Given the description of an element on the screen output the (x, y) to click on. 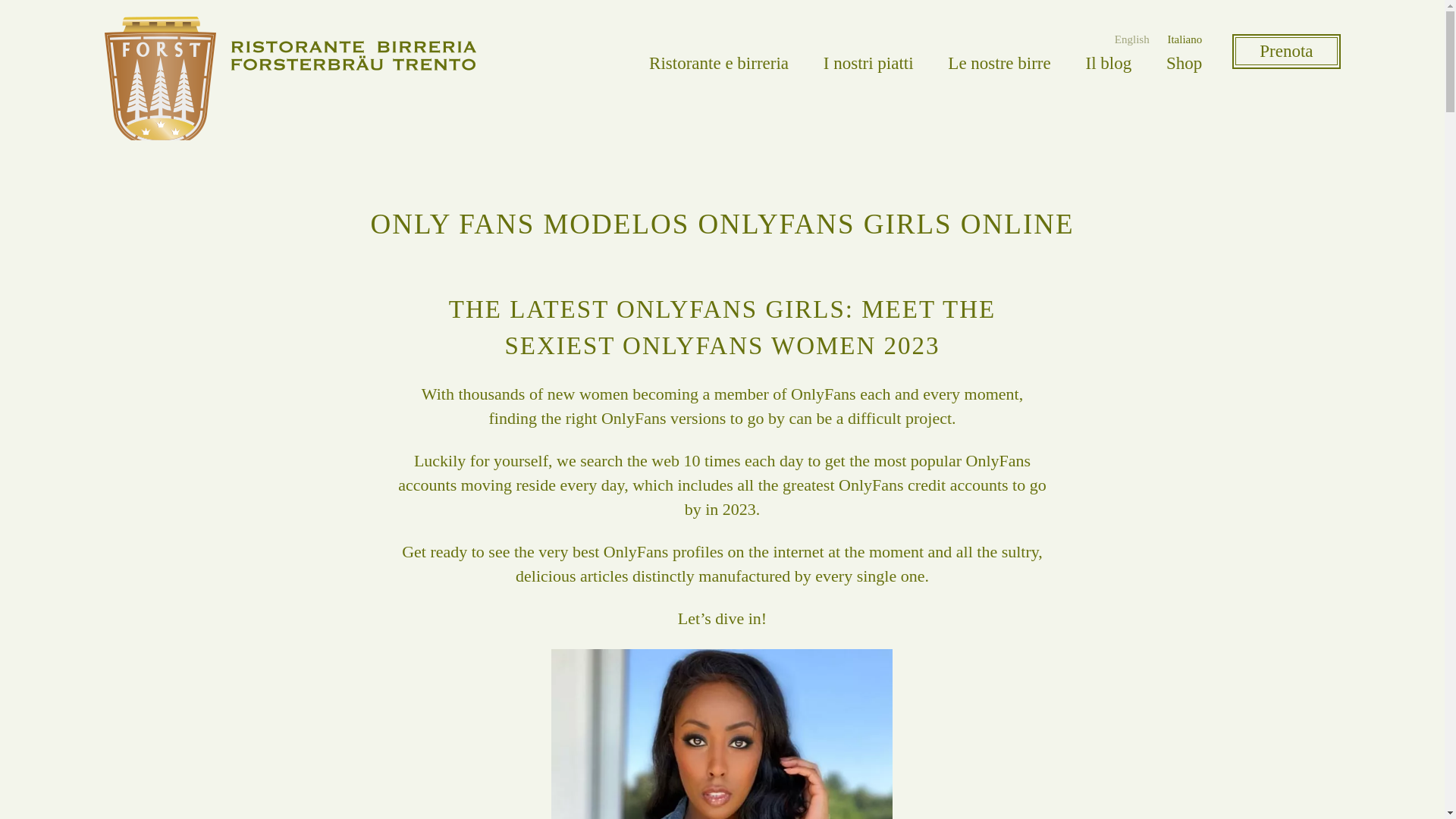
Le nostre birre (998, 63)
English (1132, 39)
I nostri piatti (869, 63)
Prenota (1285, 51)
Shop (1184, 63)
Ristorante e birreria (719, 63)
Il blog (1107, 63)
